Given the description of an element on the screen output the (x, y) to click on. 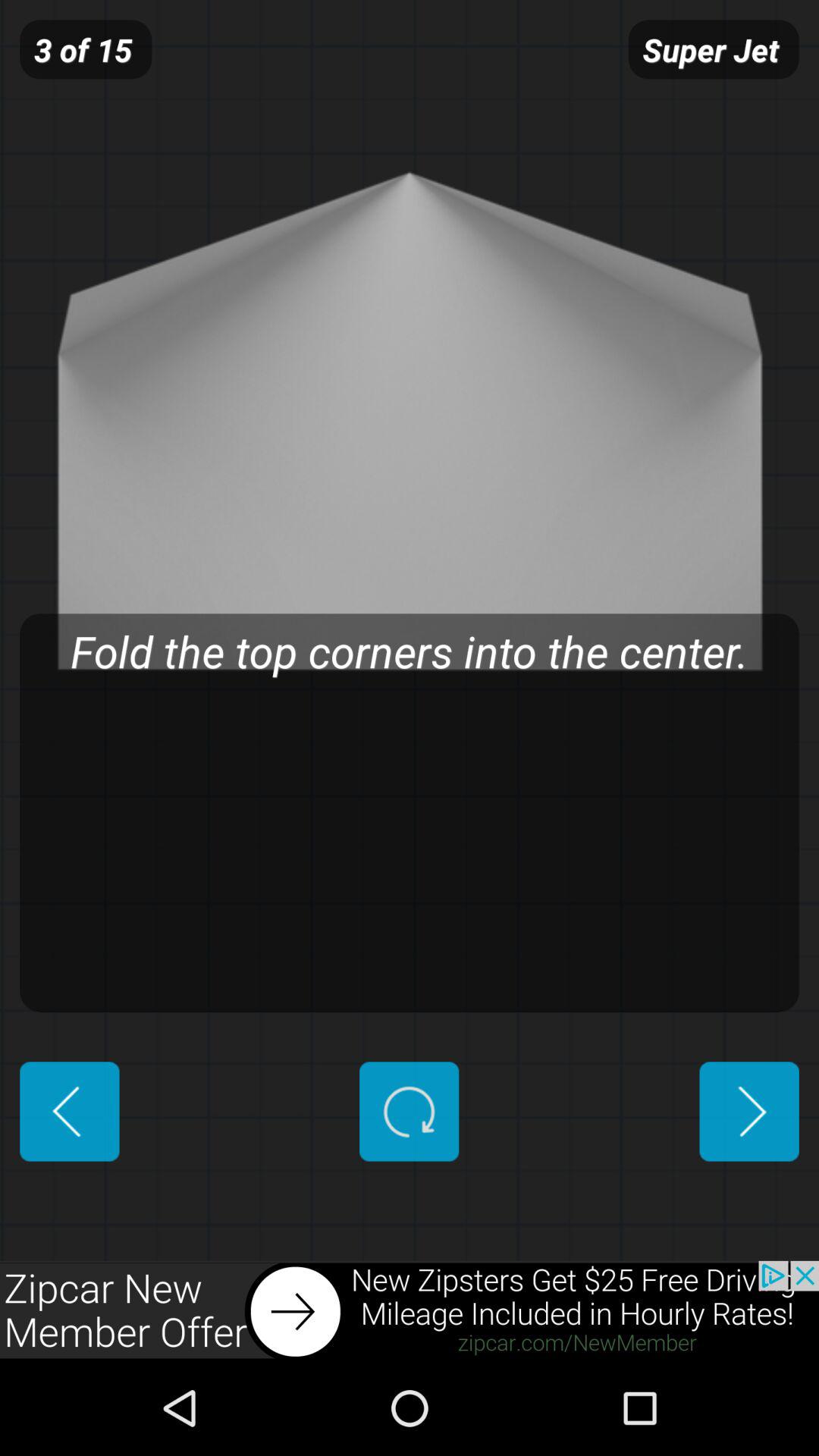
previous button (69, 1111)
